Given the description of an element on the screen output the (x, y) to click on. 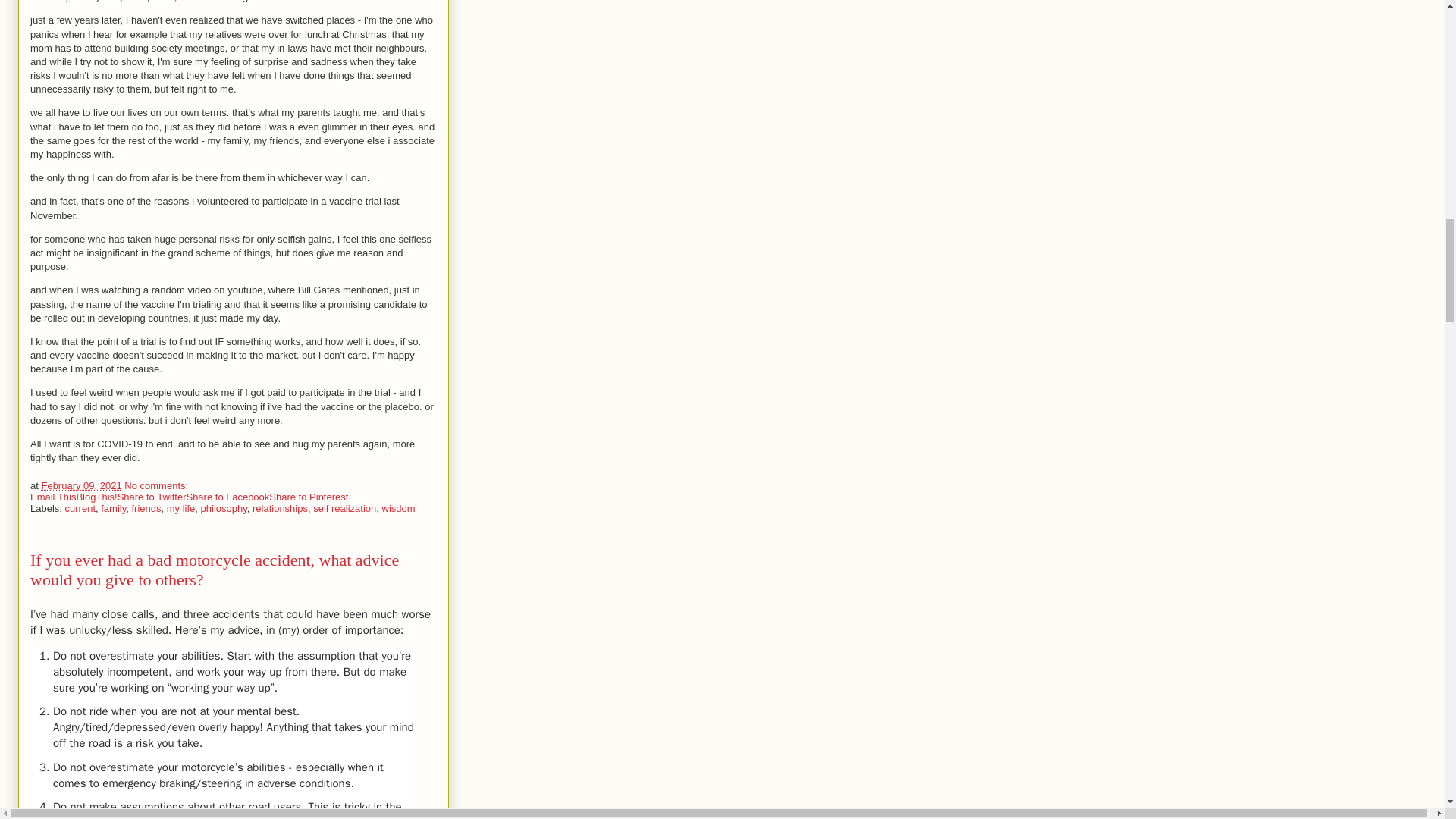
Share to Pinterest (308, 496)
family (112, 508)
Email This (52, 496)
my life (181, 508)
BlogThis! (95, 496)
Share to Facebook (227, 496)
relationships (279, 508)
friends (145, 508)
self realization (344, 508)
BlogThis! (95, 496)
Share to Facebook (227, 496)
current (80, 508)
philosophy (223, 508)
permanent link (80, 485)
